Given the description of an element on the screen output the (x, y) to click on. 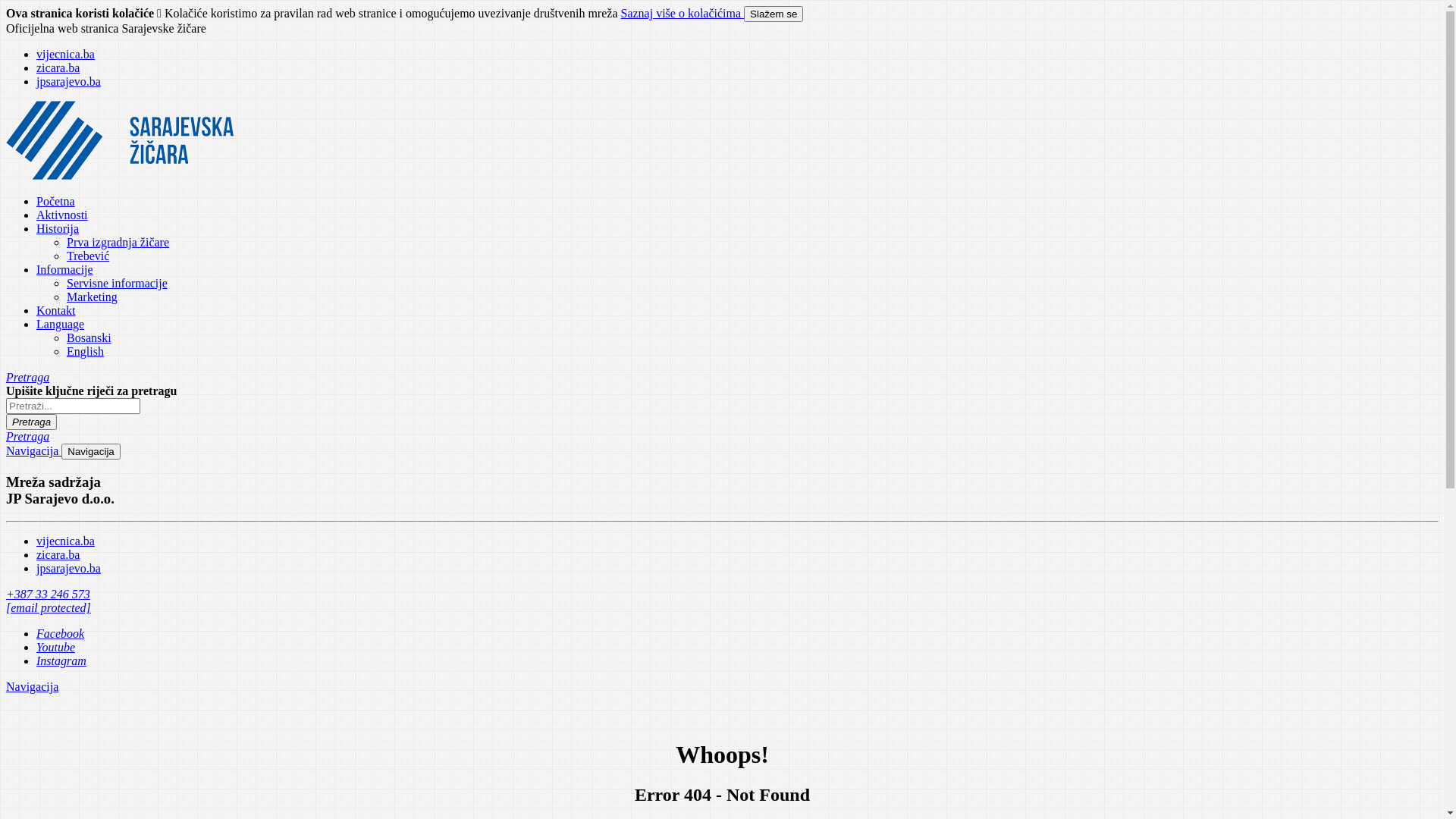
Marketing Element type: text (91, 296)
Pretraga Element type: text (27, 435)
zicara.ba Element type: text (57, 554)
Youtube Element type: text (55, 646)
Navigacija Element type: text (32, 686)
Navigacija Element type: text (90, 451)
zicara.ba Element type: text (57, 67)
jpsarajevo.ba Element type: text (68, 567)
vijecnica.ba Element type: text (65, 53)
Servisne informacije Element type: text (116, 282)
jpsarajevo.ba Element type: text (68, 81)
+387 33 246 573 Element type: text (48, 593)
Instagram Element type: text (61, 660)
Bosanski Element type: text (88, 337)
Pretraga Element type: text (31, 421)
Aktivnosti Element type: text (61, 214)
vijecnica.ba Element type: text (65, 540)
English Element type: text (84, 351)
Informacije Element type: text (64, 269)
Kontakt Element type: text (55, 310)
Facebook Element type: text (60, 633)
[email protected] Element type: text (48, 607)
Historija Element type: text (57, 228)
Language Element type: text (60, 323)
Navigacija Element type: text (33, 450)
Pretraga Element type: text (27, 376)
